Given the description of an element on the screen output the (x, y) to click on. 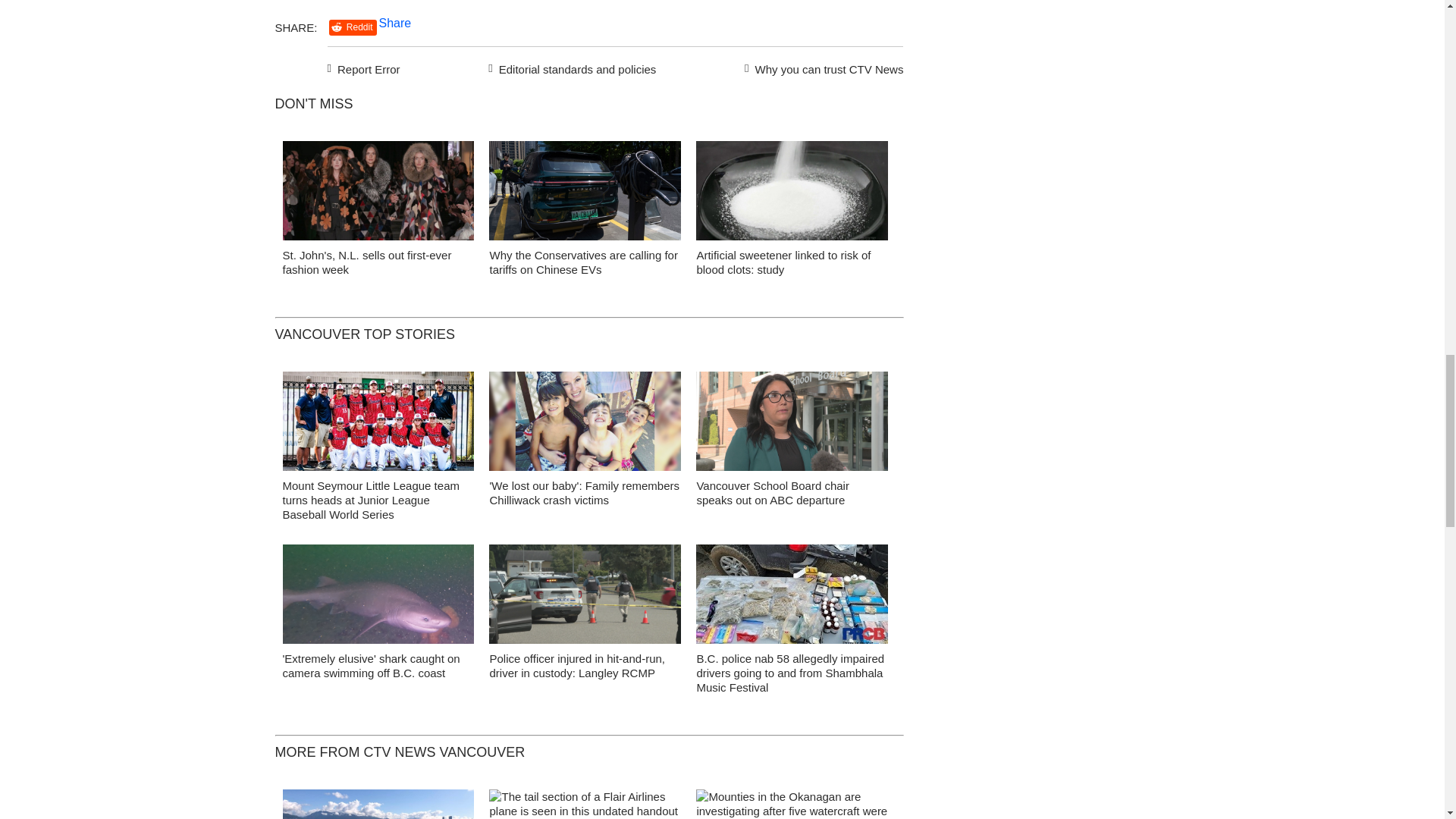
Langley RCMP  (585, 597)
Flair Airlines (585, 804)
Report Error (363, 67)
false (791, 190)
Artificial sweetener linked to risk of blood clots: study (782, 262)
CTV National News: Tariffs on Chinese EVs (585, 194)
Why you can trust CTV News (820, 67)
CTV National News: Fashion week in St. John's (378, 194)
false (378, 190)
